Given the description of an element on the screen output the (x, y) to click on. 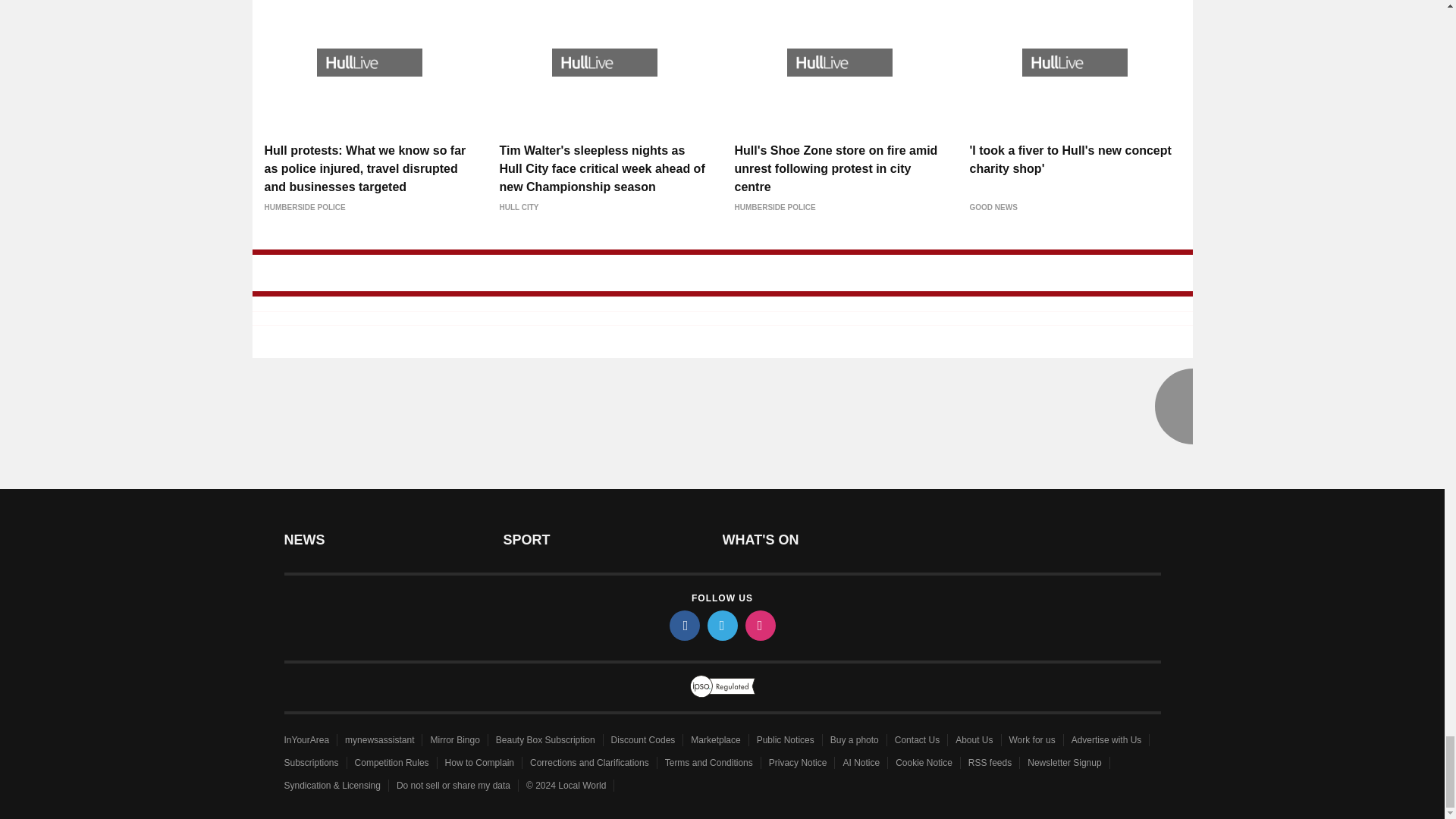
facebook (683, 625)
instagram (759, 625)
twitter (721, 625)
